Given the description of an element on the screen output the (x, y) to click on. 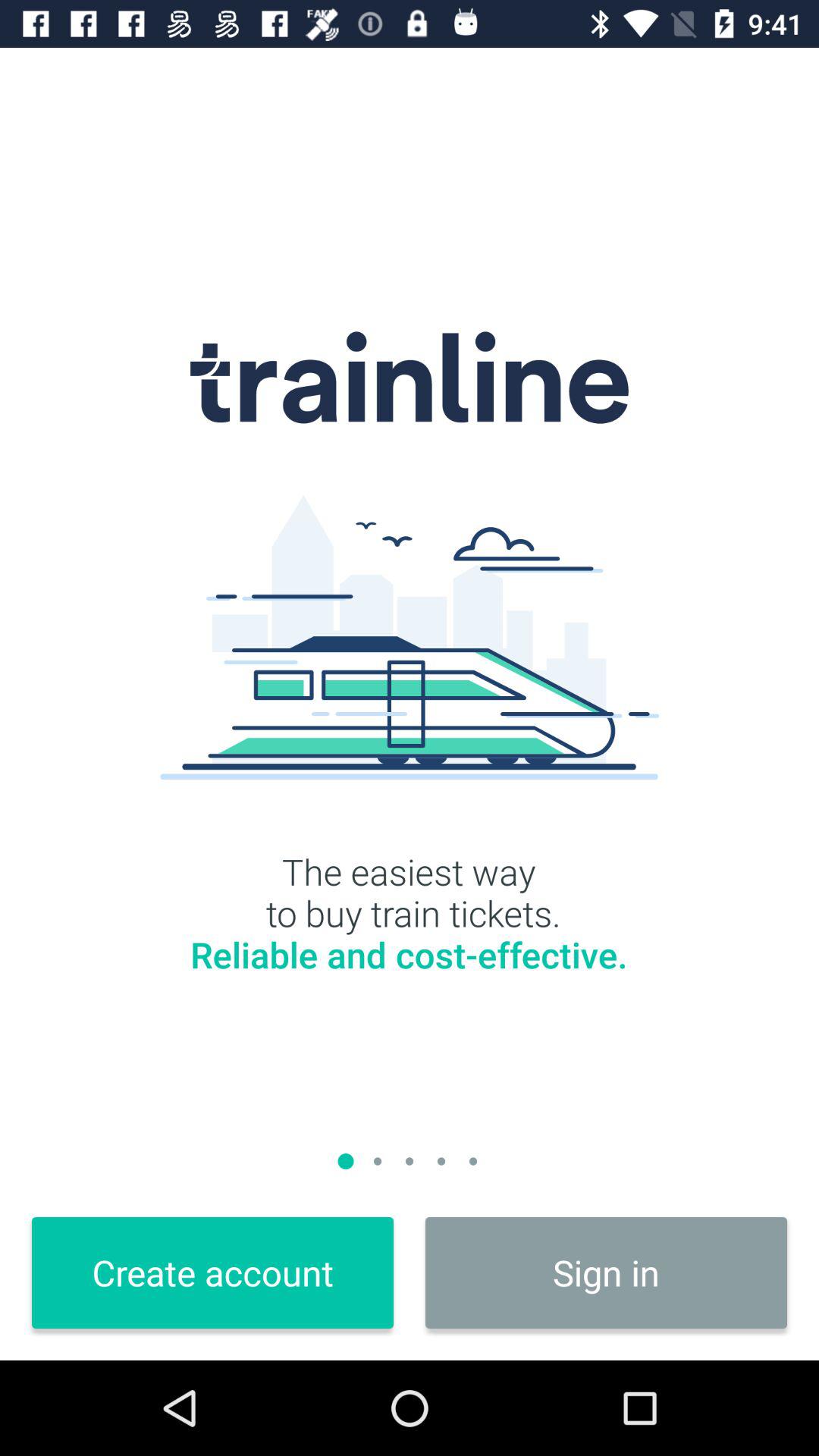
open the create account icon (212, 1272)
